Given the description of an element on the screen output the (x, y) to click on. 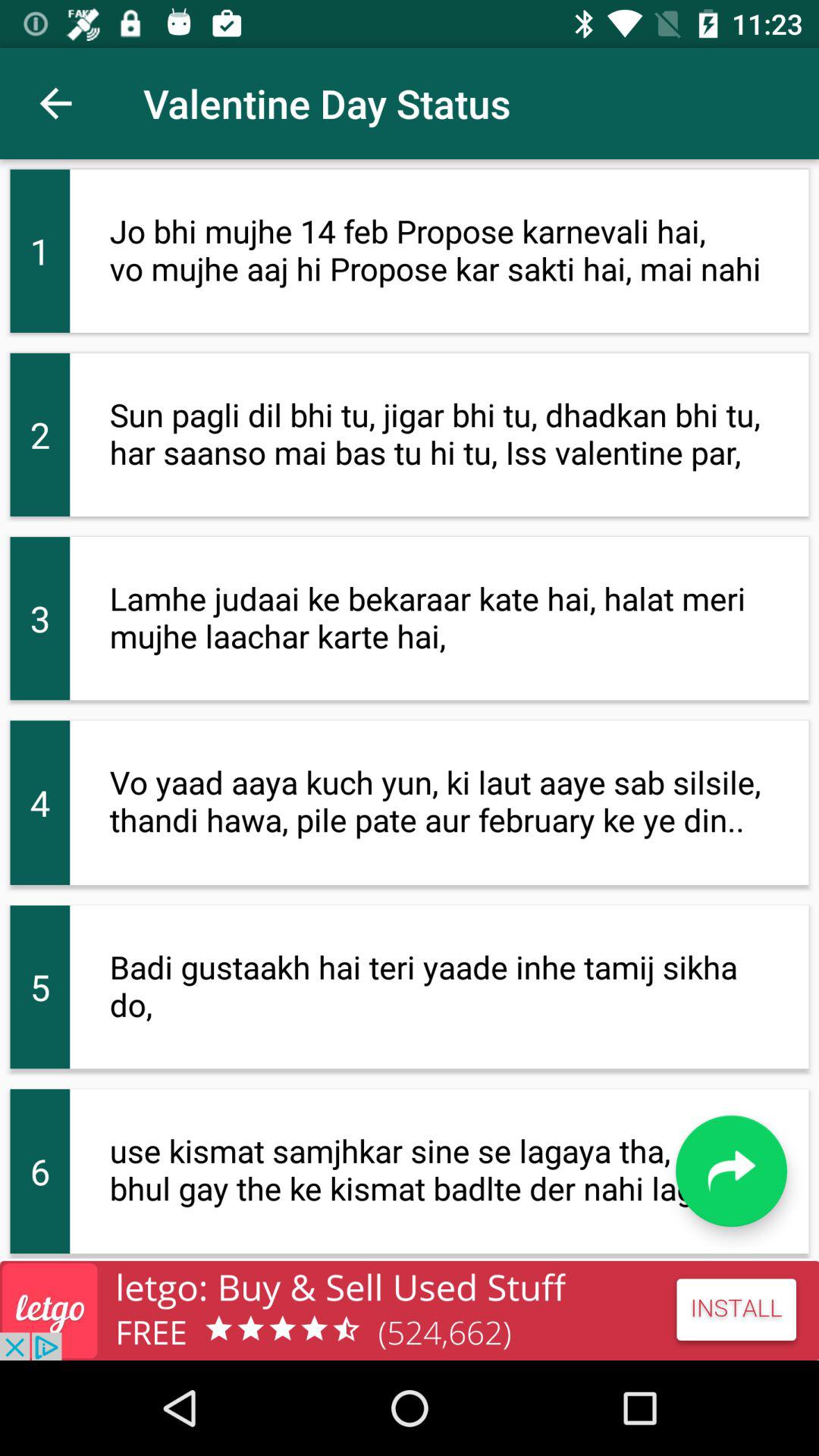
send page (731, 1170)
